Given the description of an element on the screen output the (x, y) to click on. 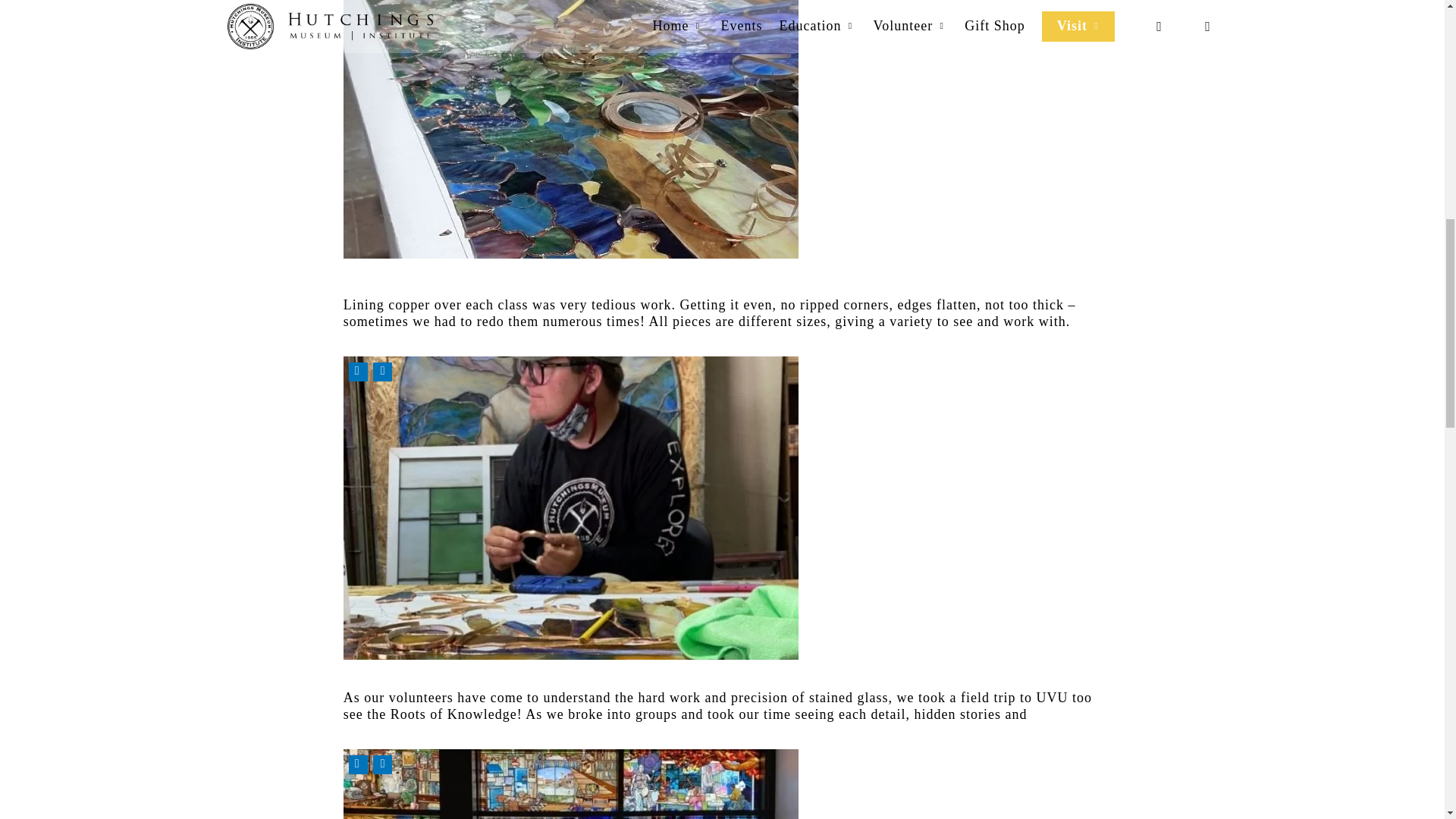
3 Stained Glass (570, 129)
